Given the description of an element on the screen output the (x, y) to click on. 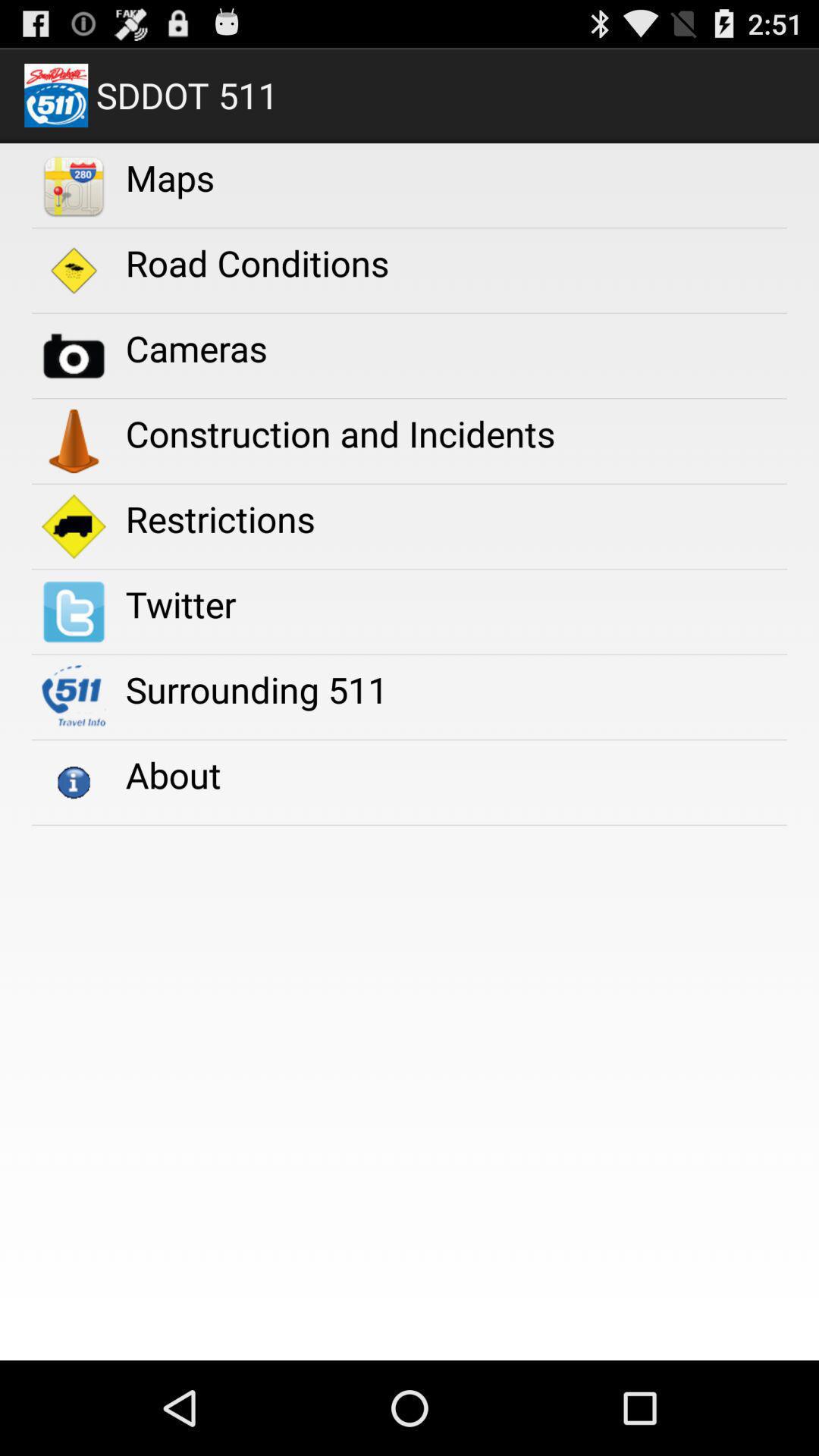
swipe to the maps app (169, 177)
